Given the description of an element on the screen output the (x, y) to click on. 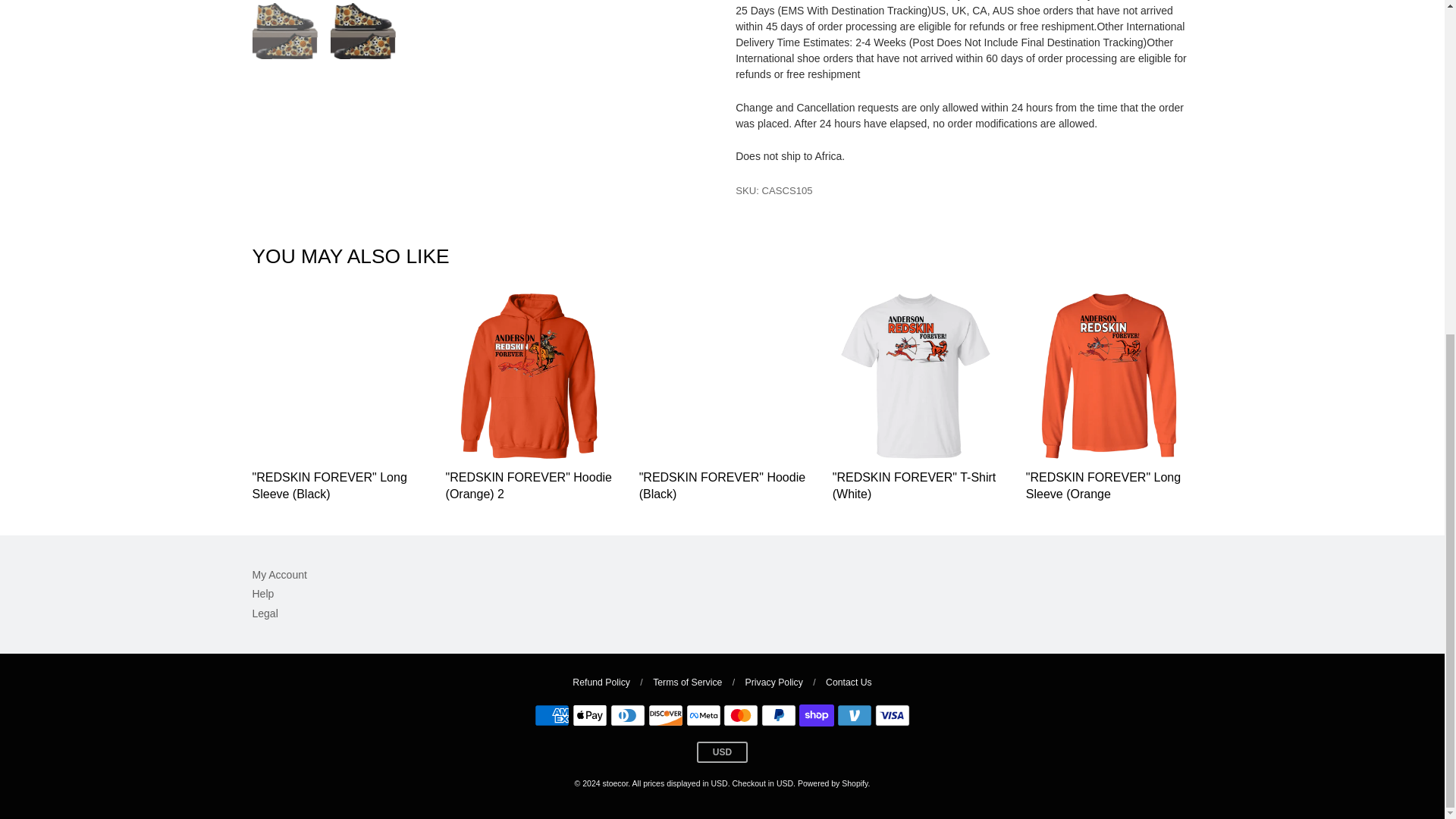
Venmo (854, 715)
Diners Club (627, 715)
1 (1048, 283)
PayPal (778, 715)
Shop Pay (816, 715)
Mastercard (740, 715)
Sports Ball Patterns - Kids Hightop (284, 30)
Discover (664, 715)
Meta Pay (702, 715)
Visa (892, 715)
Apple Pay (589, 715)
Sports Ball Patterns - Kids Hightop (363, 30)
American Express (551, 715)
